Given the description of an element on the screen output the (x, y) to click on. 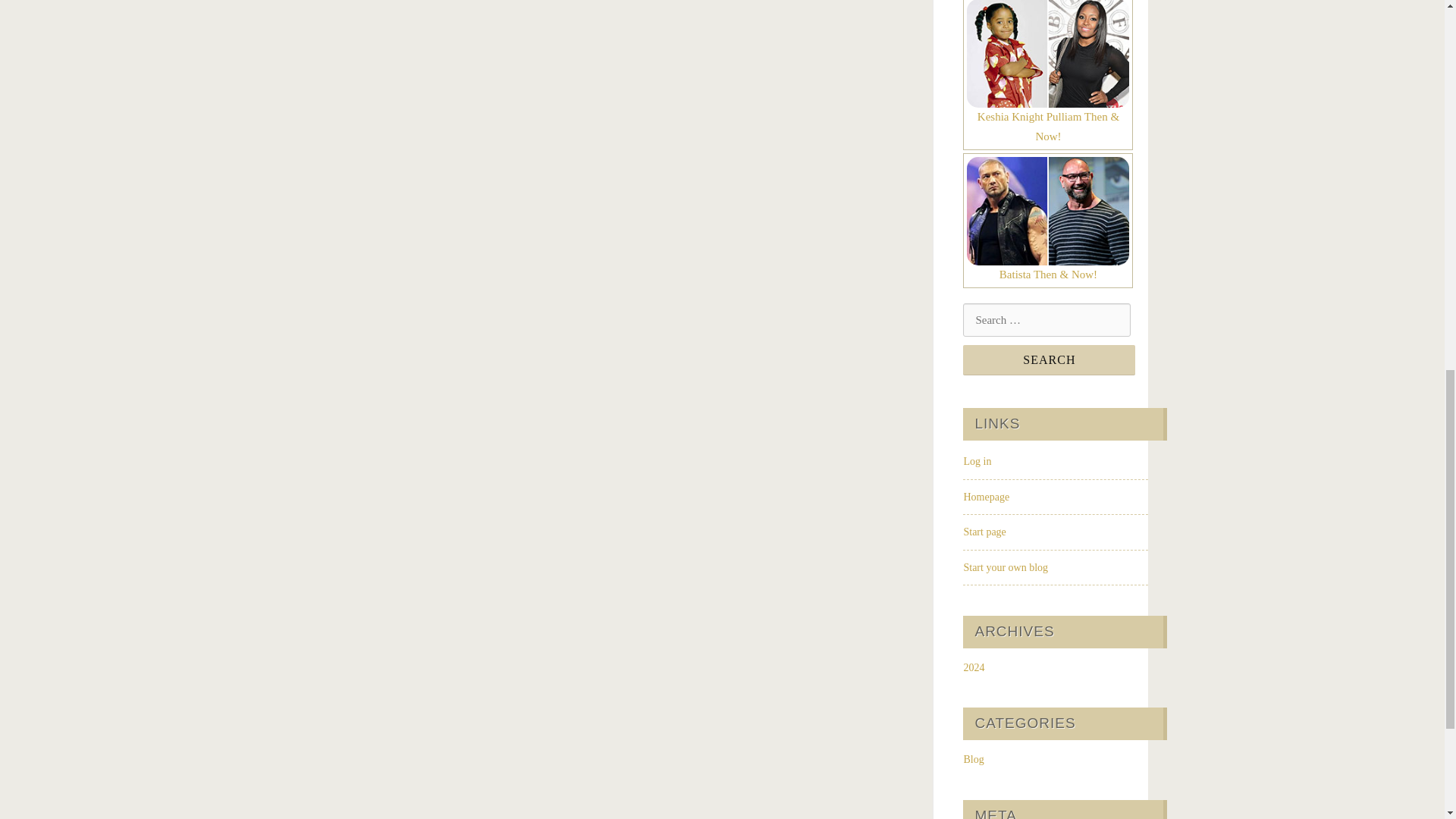
Blog (973, 758)
Search (1048, 359)
Search (1048, 359)
Search (1048, 359)
Start your own blog (1005, 567)
Start page (984, 531)
Homepage (985, 496)
Log in (976, 460)
2024 (973, 667)
